Given the description of an element on the screen output the (x, y) to click on. 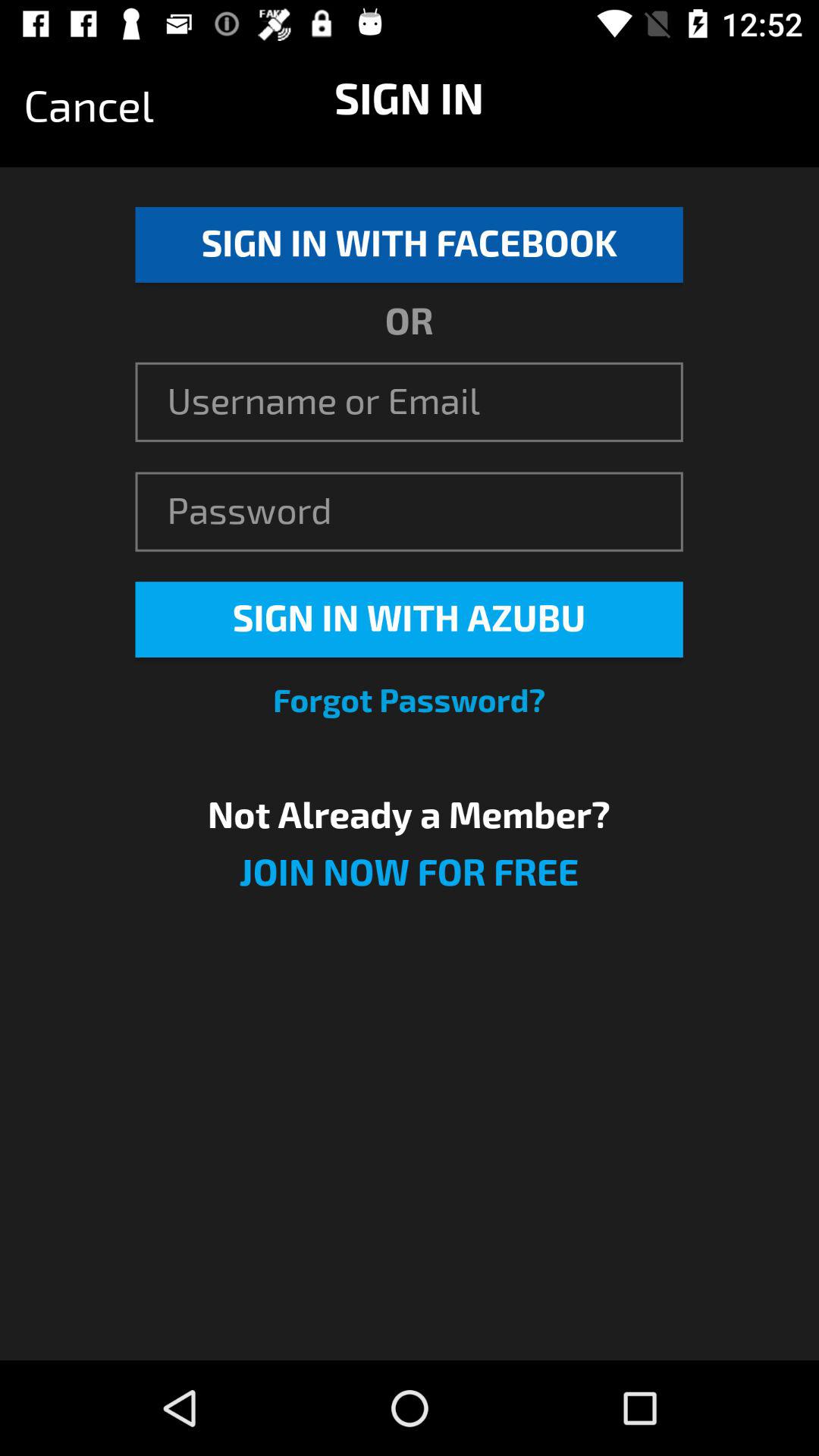
jump until the forgot password? (409, 701)
